Given the description of an element on the screen output the (x, y) to click on. 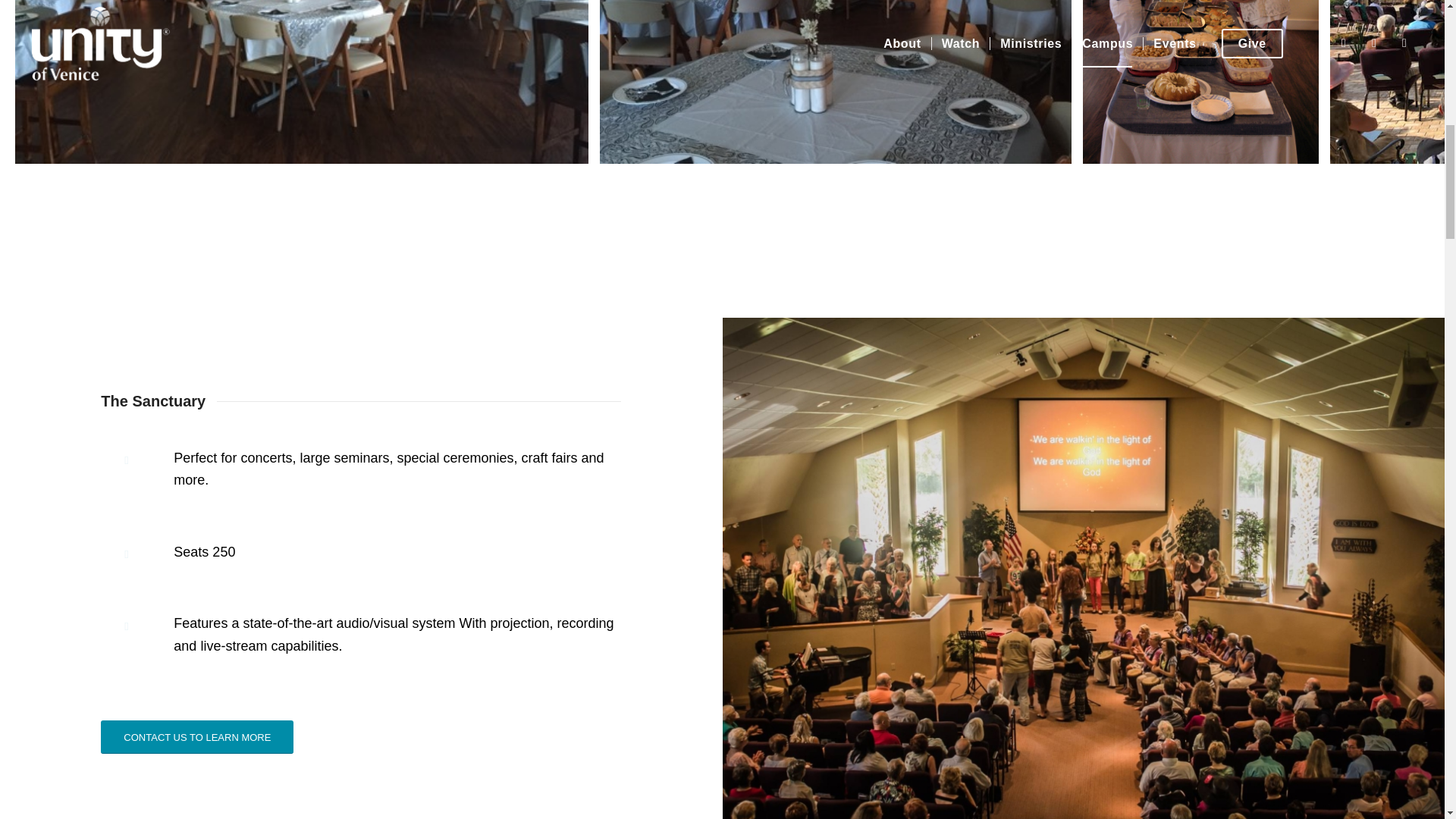
Event1 (835, 81)
CONTACT US TO LEARN MORE (197, 737)
Grounds10 (1201, 81)
Main Event (301, 81)
